Given the description of an element on the screen output the (x, y) to click on. 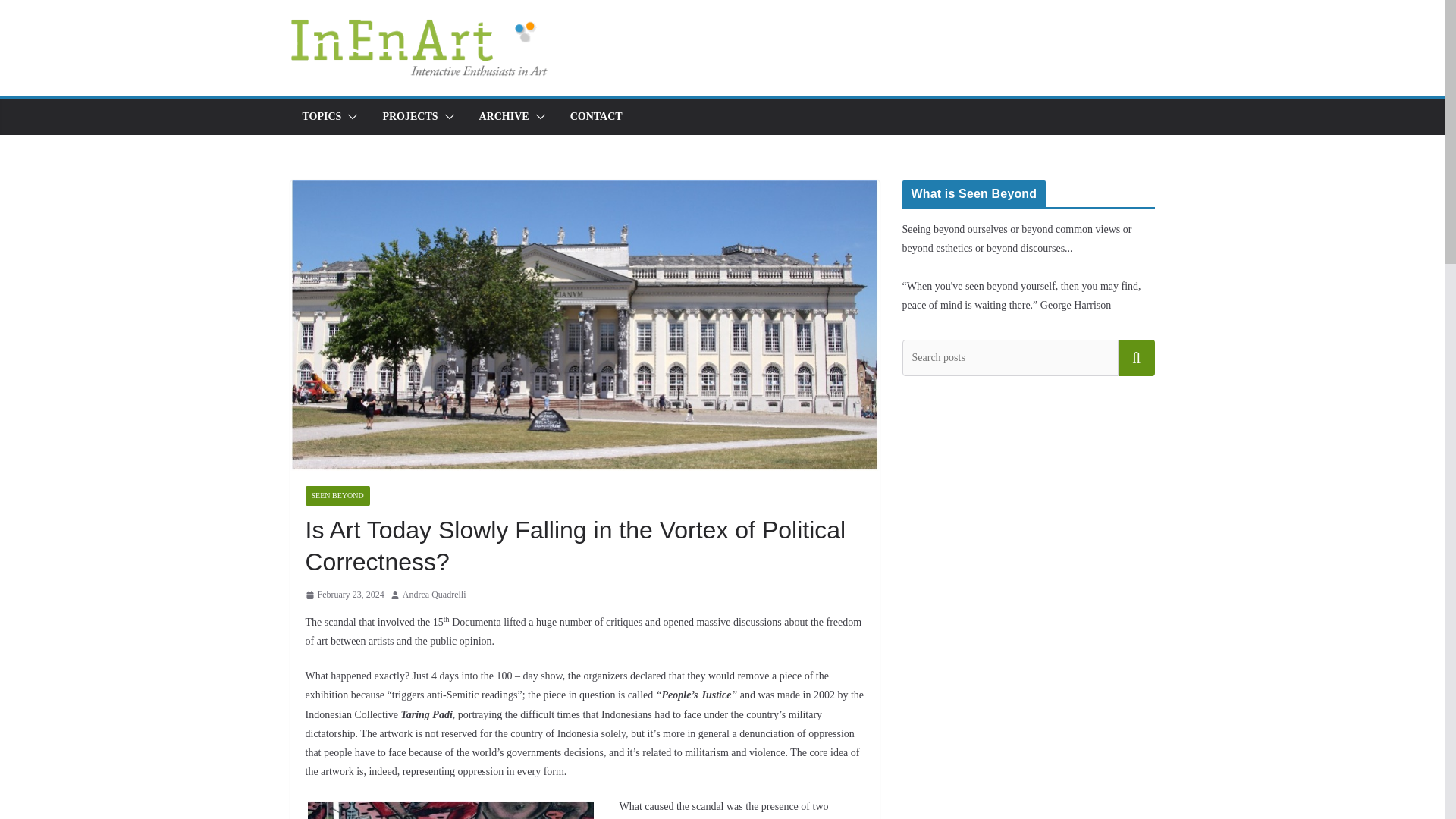
Andrea Quadrelli (434, 595)
SEEN BEYOND (336, 496)
7:36 pm (344, 595)
CONTACT (596, 116)
February 23, 2024 (344, 595)
Andrea Quadrelli (434, 595)
ARCHIVE (504, 116)
PROJECTS (409, 116)
TOPICS (320, 116)
